Given the description of an element on the screen output the (x, y) to click on. 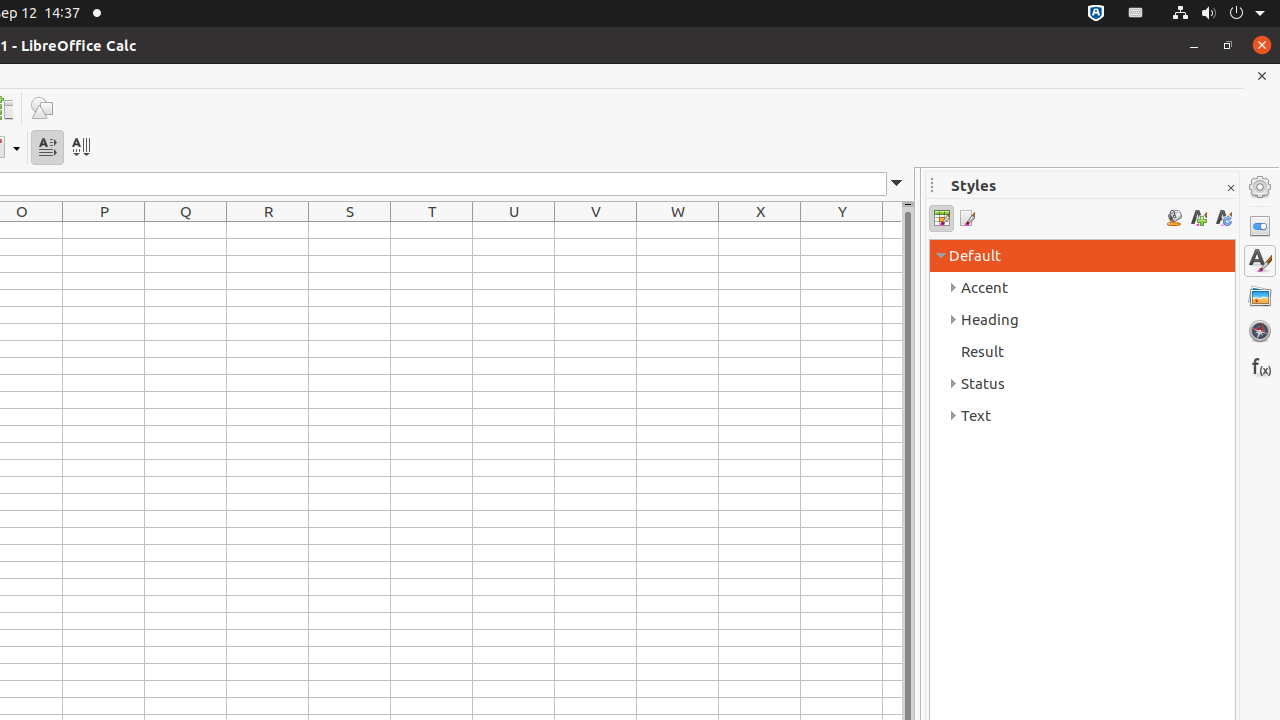
Close Sidebar Deck Element type: push-button (1230, 188)
Draw Functions Element type: toggle-button (41, 108)
Q1 Element type: table-cell (186, 230)
Update Style Element type: push-button (1223, 218)
